Given the description of an element on the screen output the (x, y) to click on. 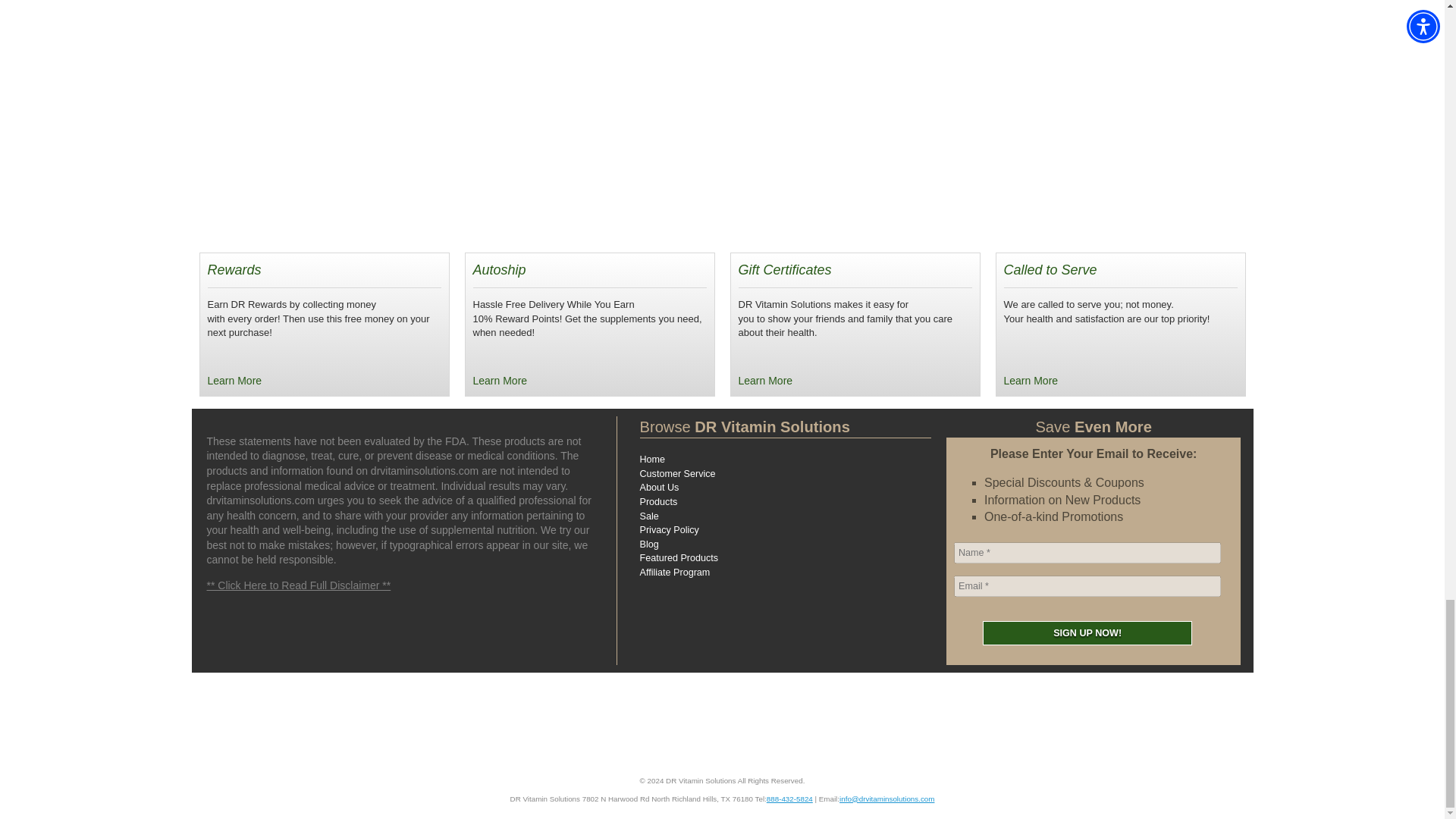
Sign Up Now! (1087, 632)
